Given the description of an element on the screen output the (x, y) to click on. 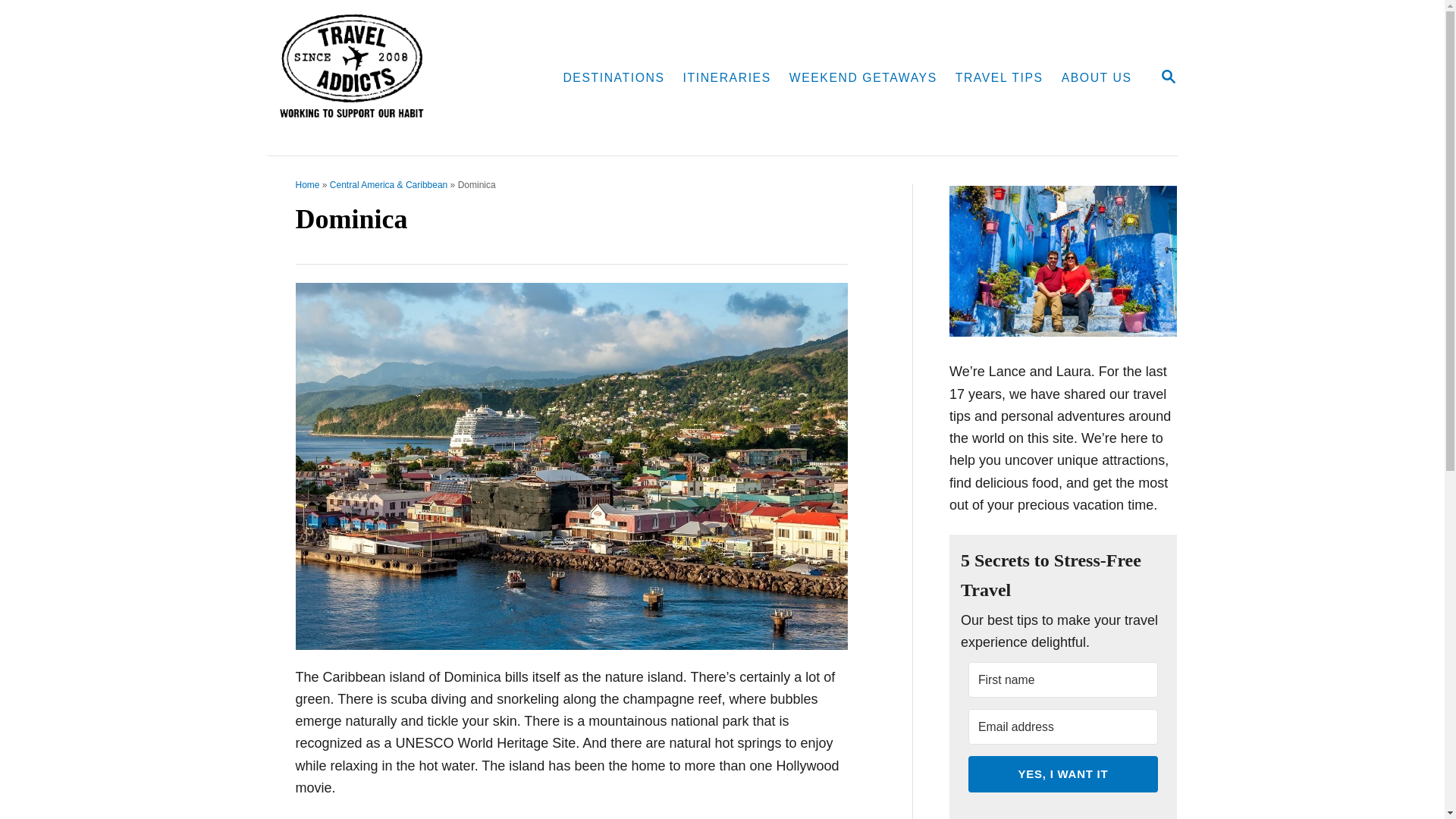
WEEKEND GETAWAYS (863, 78)
DESTINATIONS (612, 78)
ITINERARIES (727, 78)
YES, I WANT IT (1062, 773)
TRAVEL TIPS (999, 78)
ABOUT US (1096, 78)
Travel Addicts (1167, 77)
Home (395, 77)
MAGNIFYING GLASS (307, 184)
